Given the description of an element on the screen output the (x, y) to click on. 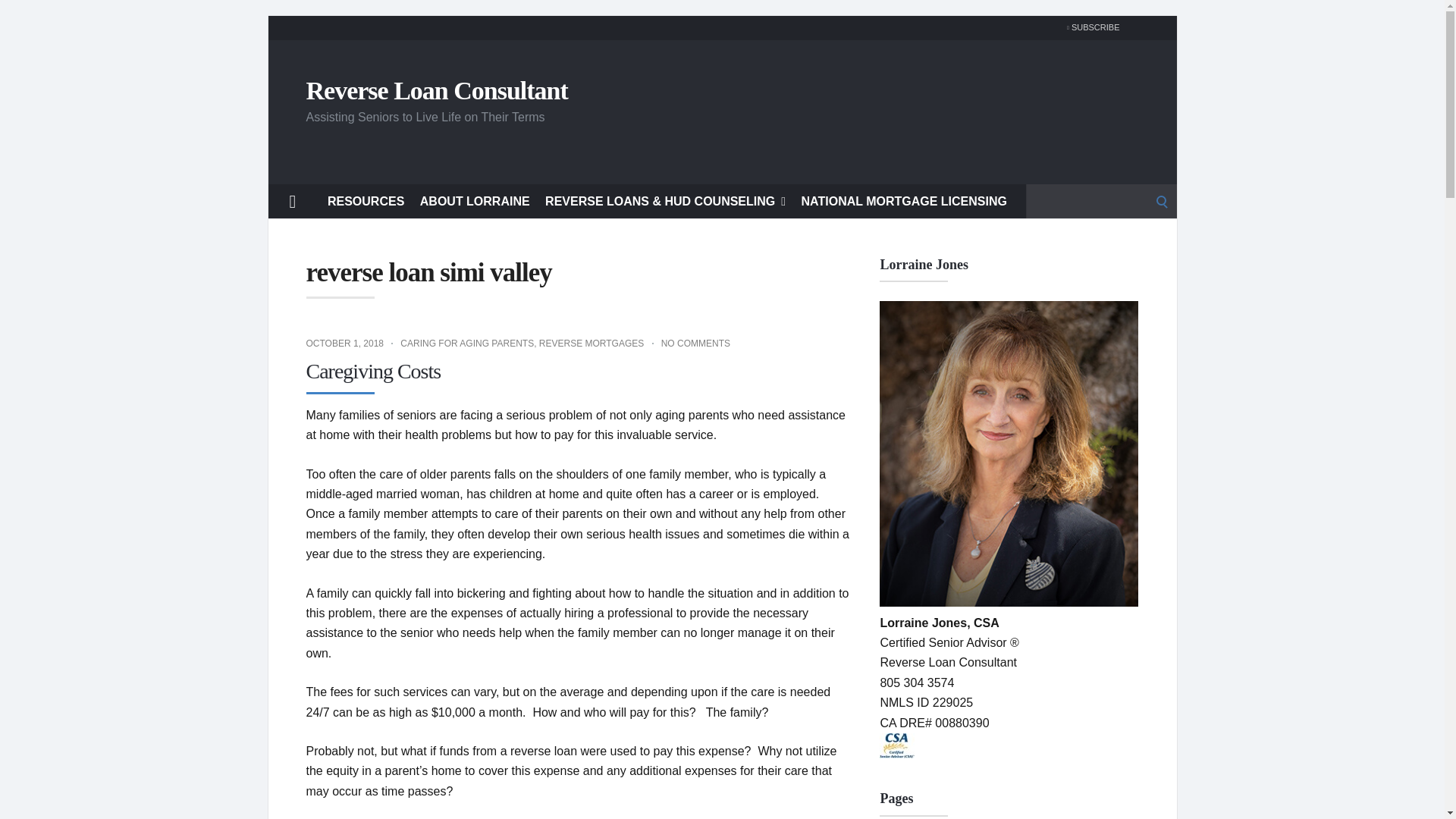
NATIONAL MORTGAGE LICENSING (904, 200)
Search (16, 17)
CARING FOR AGING PARENTS (467, 343)
REVERSE MORTGAGES (590, 343)
SUBSCRIBE (1089, 27)
RESOURCES (365, 200)
ABOUT LORRAINE (474, 200)
NO COMMENTS (695, 343)
Caregiving Costs (373, 371)
Reverse Loan Consultant (436, 89)
